Given the description of an element on the screen output the (x, y) to click on. 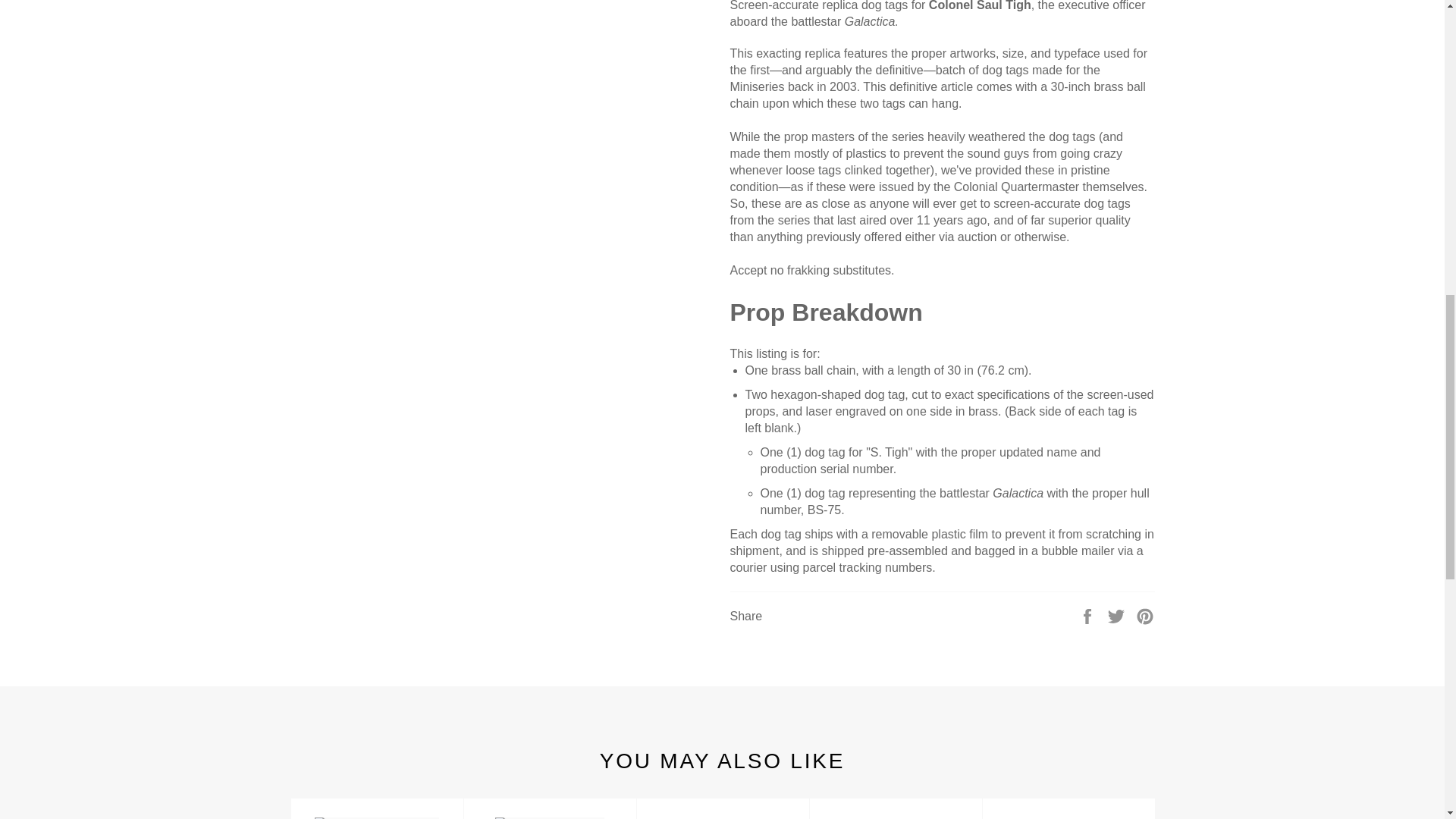
Tweet on Twitter (1117, 615)
Share on Facebook (1088, 615)
Pin on Pinterest (1144, 615)
